Given the description of an element on the screen output the (x, y) to click on. 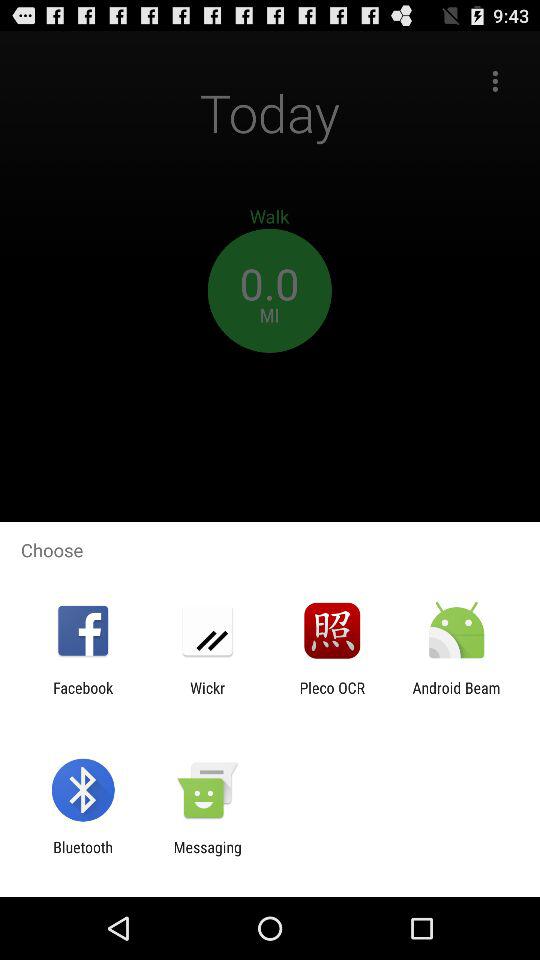
turn off item to the right of the wickr item (331, 696)
